Given the description of an element on the screen output the (x, y) to click on. 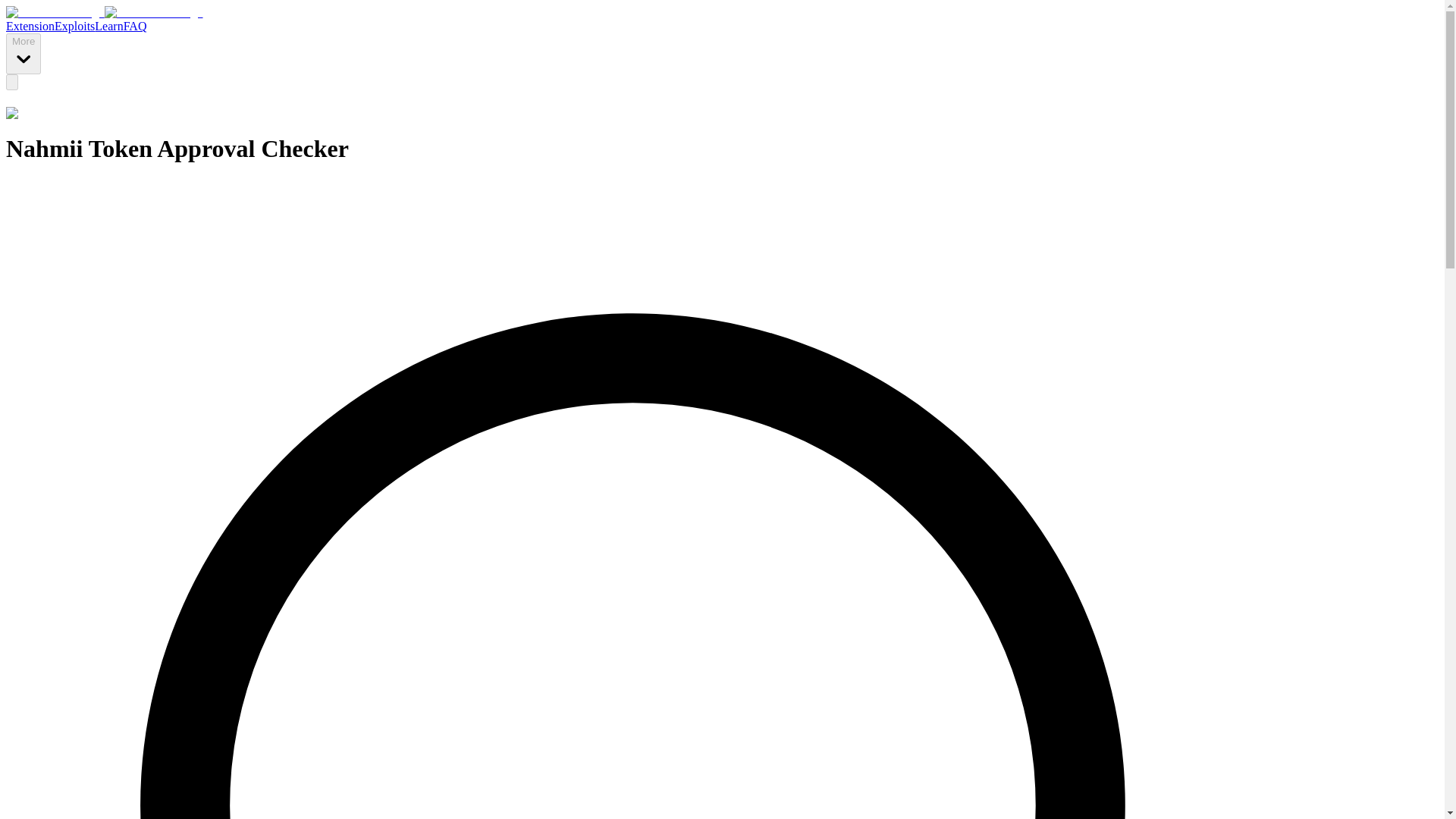
Learn (108, 25)
Extension (30, 25)
Exploits (74, 25)
FAQ (135, 25)
